Given the description of an element on the screen output the (x, y) to click on. 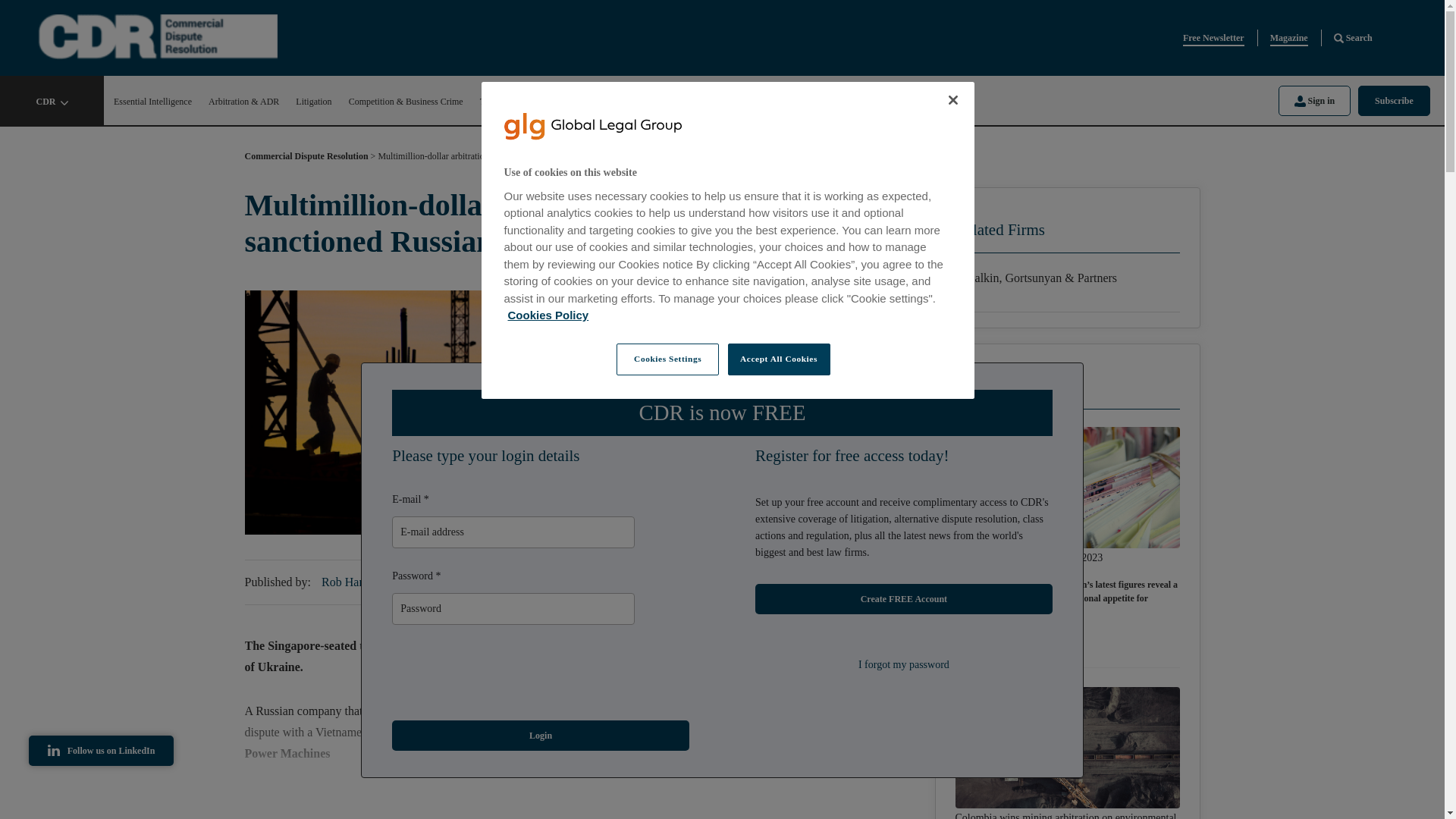
JAMS dispute caseload up in 2023 (1029, 557)
Search (1353, 37)
Colombia wins mining arbitration on environmental grounds (1067, 814)
Sign in (1314, 100)
Essential Intelligence (152, 101)
Commercial Dispute Resolution (306, 159)
I forgot my password (904, 664)
Subscribe (1393, 100)
Login (539, 735)
Rob Harkavy (355, 581)
Third-Party Finance (516, 101)
Free Newsletter (1213, 37)
Conferences (732, 101)
Create FREE Account (903, 598)
Magazine (1288, 37)
